Given the description of an element on the screen output the (x, y) to click on. 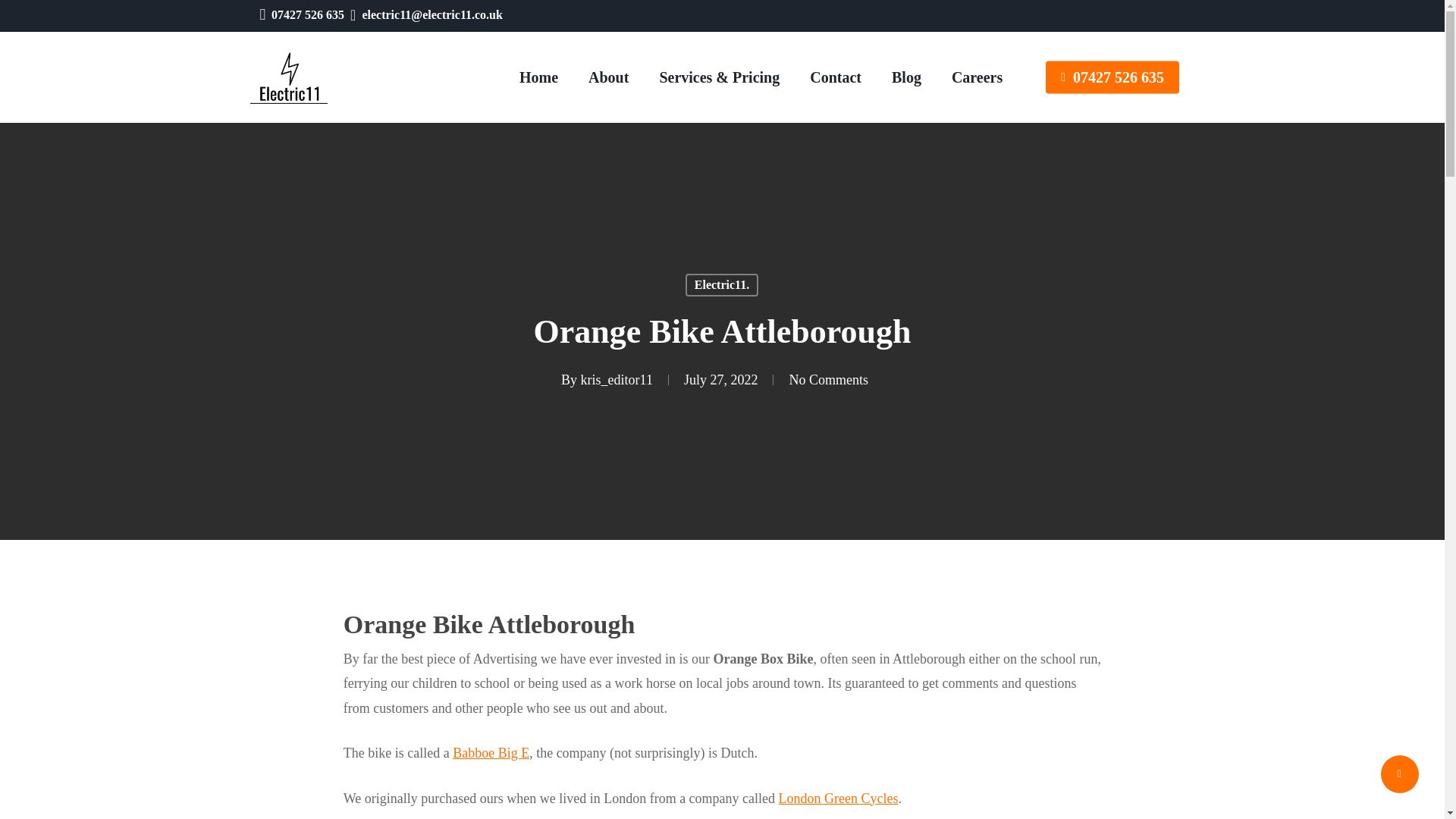
Careers (976, 77)
About (608, 77)
Home (538, 77)
Babboe Big E (490, 752)
Contact (835, 77)
Electric11. (721, 284)
07427 526 635 (306, 14)
No Comments (828, 380)
Blog (906, 77)
